Given the description of an element on the screen output the (x, y) to click on. 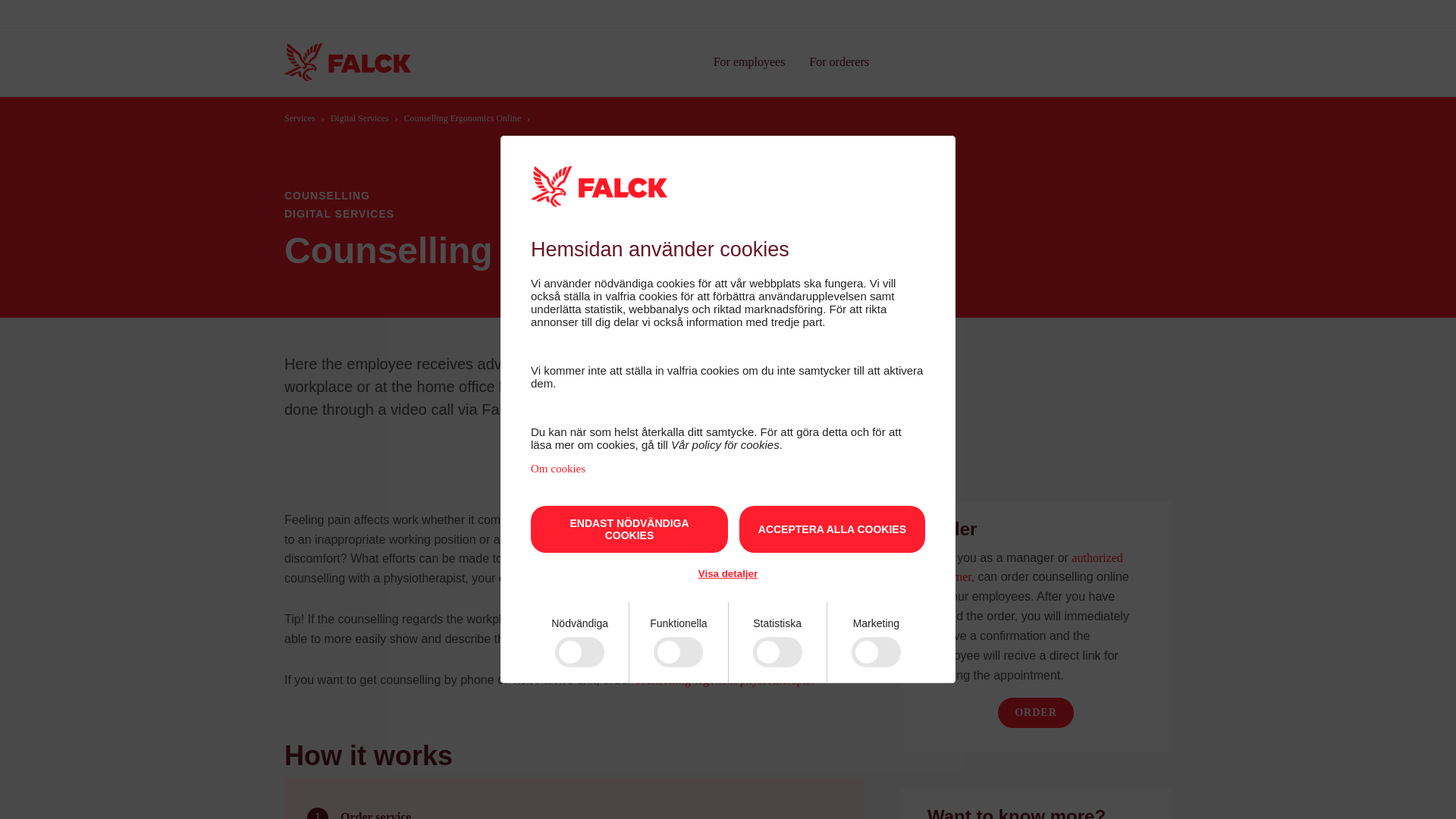
Visa detaljer (727, 573)
Om cookies (558, 468)
ACCEPTERA ALLA COOKIES (831, 529)
